Given the description of an element on the screen output the (x, y) to click on. 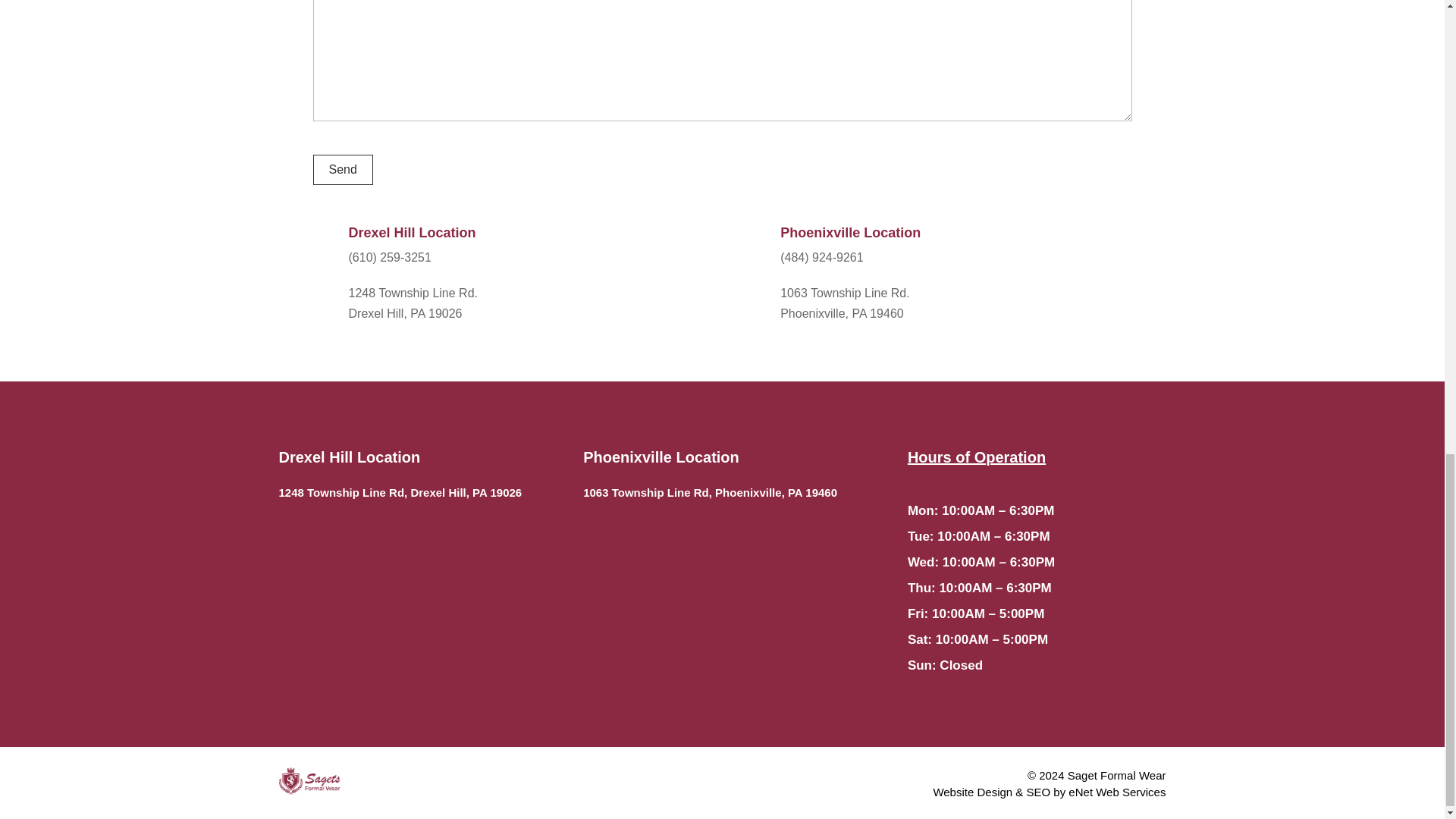
Send (342, 169)
fullMaroon (309, 780)
